Given the description of an element on the screen output the (x, y) to click on. 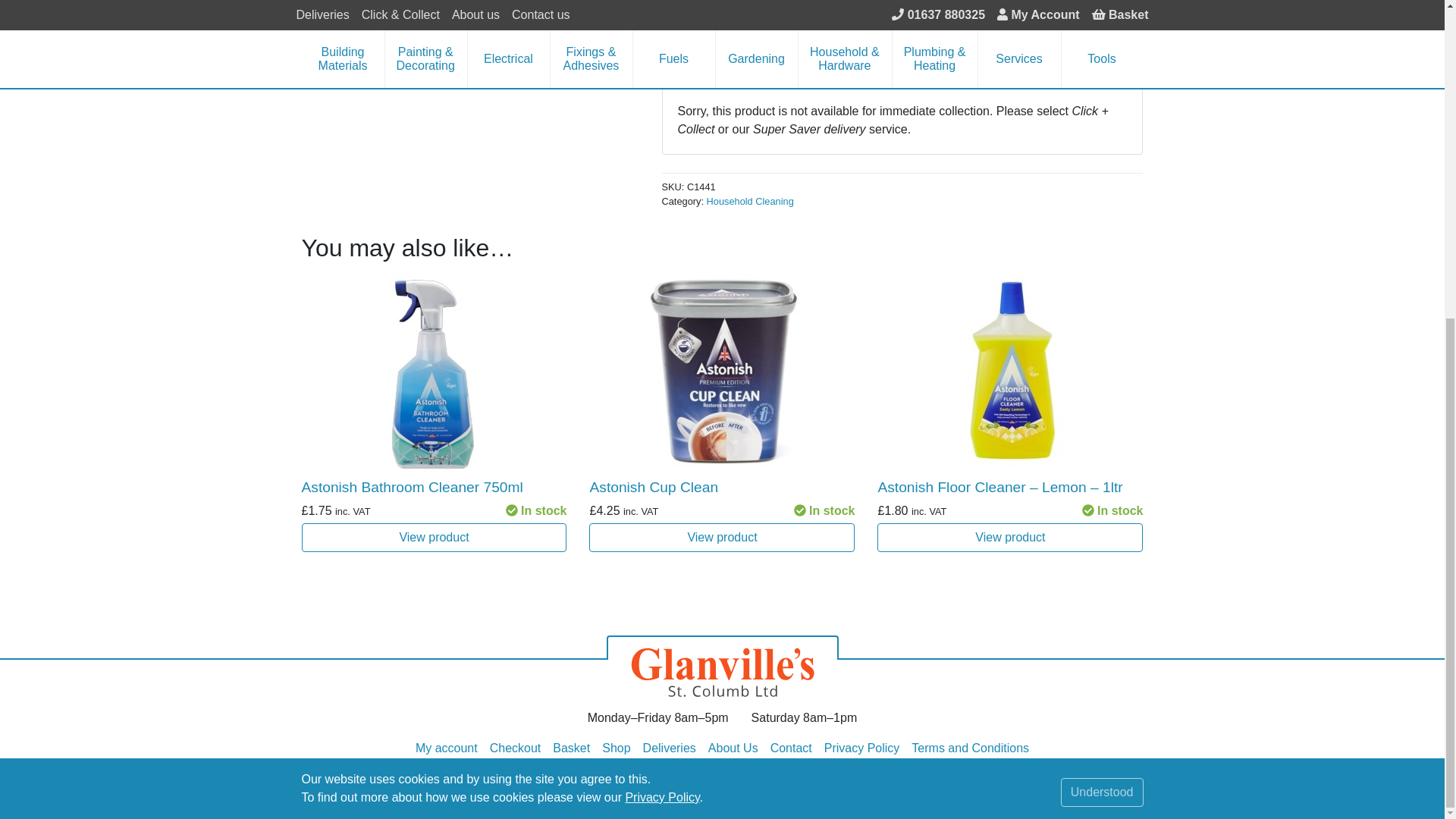
Glanville's St. Columb Ltd (722, 665)
Privacy Policy (661, 282)
Understood (1101, 277)
